Given the description of an element on the screen output the (x, y) to click on. 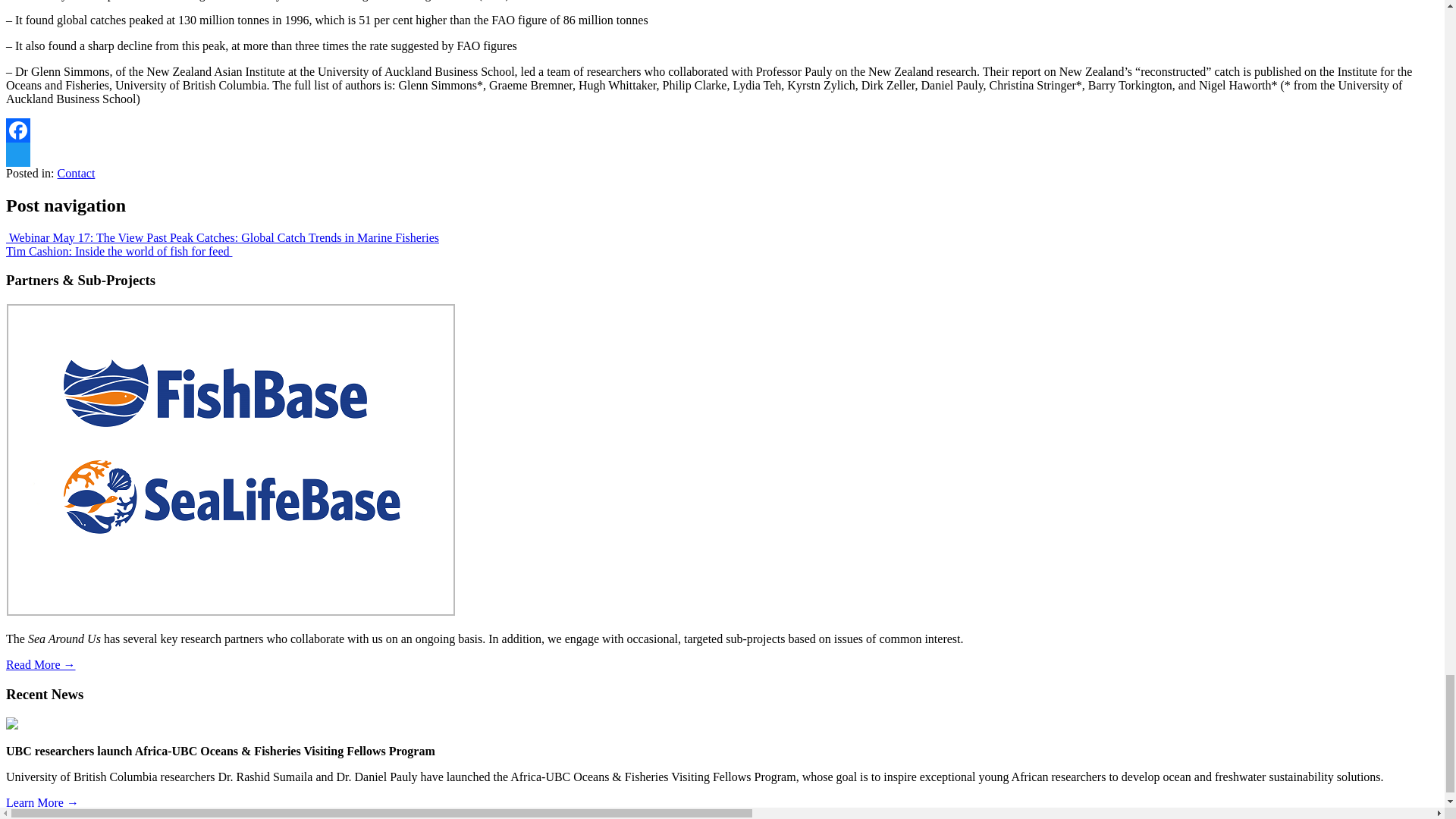
Twitter (721, 154)
Facebook (721, 129)
